Given the description of an element on the screen output the (x, y) to click on. 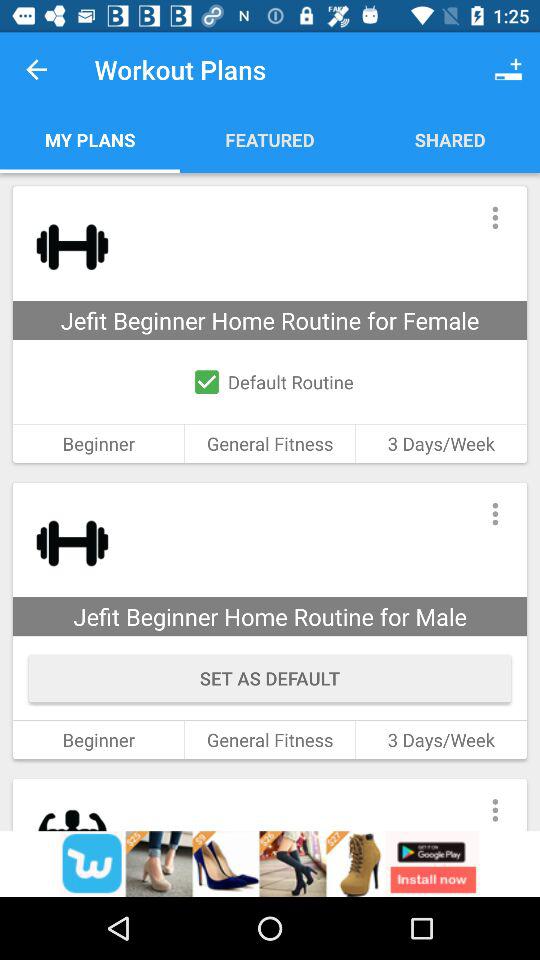
go to a (270, 864)
